Given the description of an element on the screen output the (x, y) to click on. 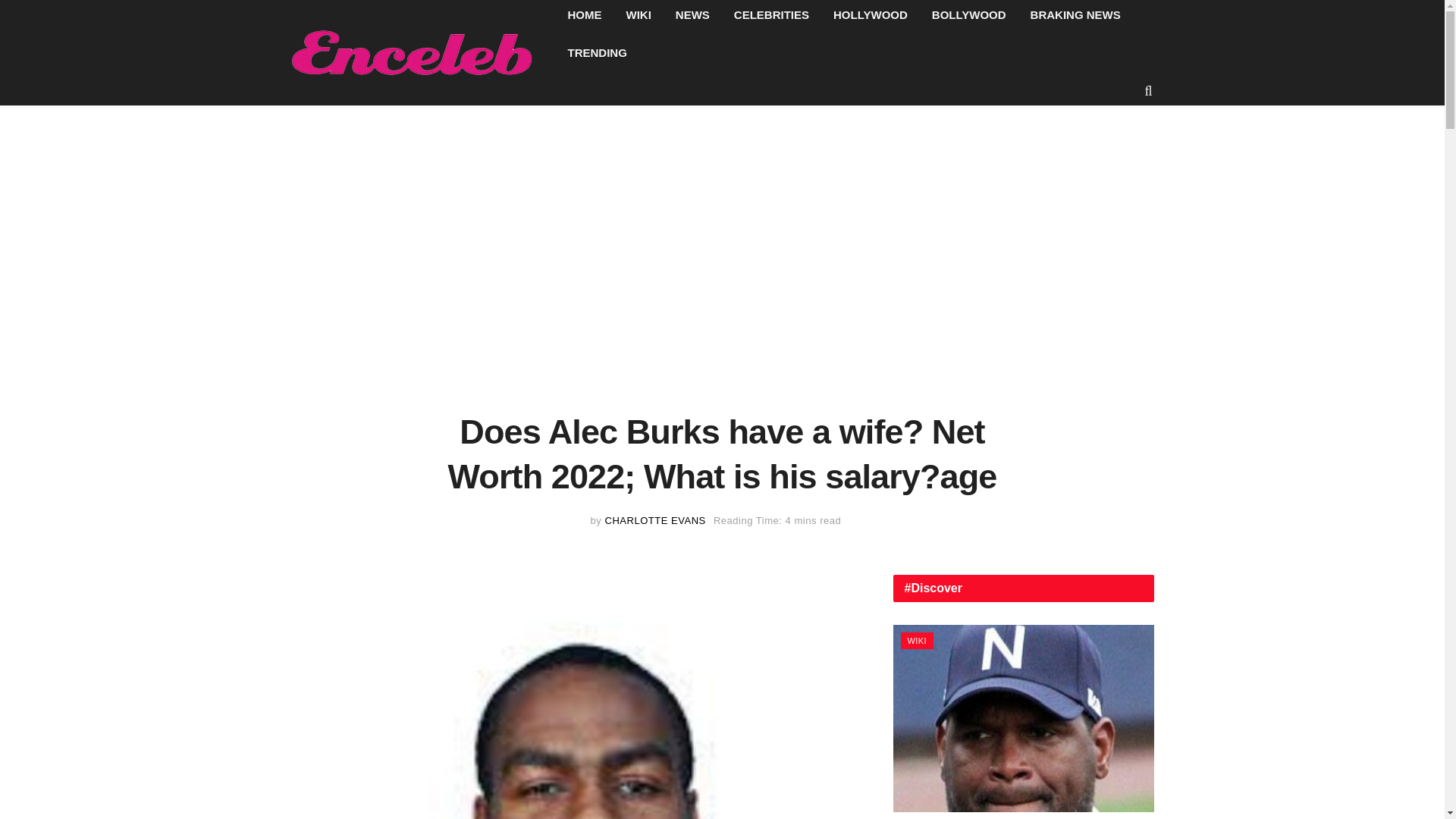
CELEBRITIES (771, 16)
WIKI (638, 16)
HOME (583, 16)
NEWS (692, 16)
HOLLYWOOD (870, 16)
TRENDING (596, 52)
BRAKING NEWS (1074, 16)
CHARLOTTE EVANS (655, 520)
BOLLYWOOD (968, 16)
